Given the description of an element on the screen output the (x, y) to click on. 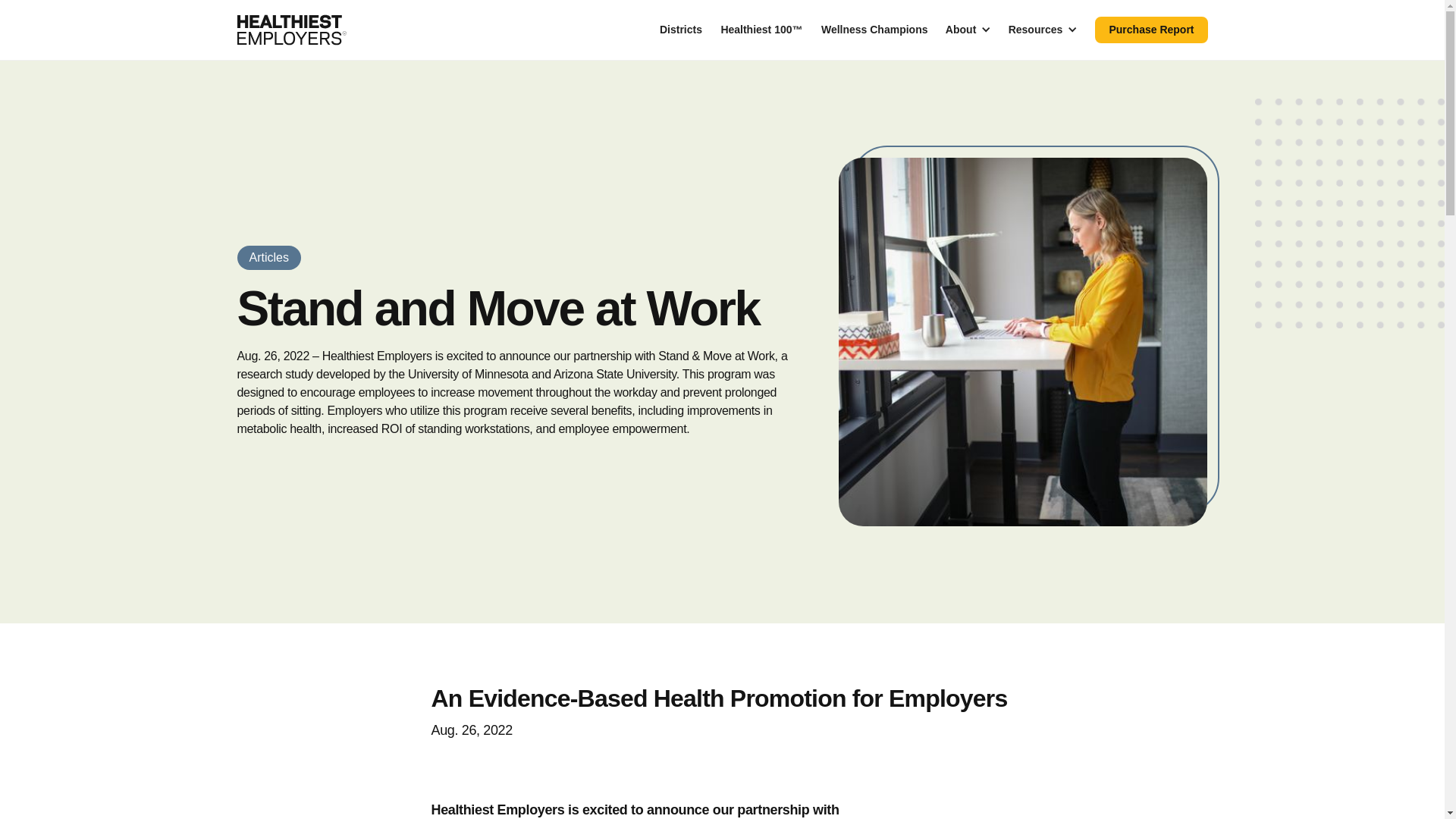
Healthiest Employers (290, 29)
Wellness Champions (874, 29)
Purchase Report (1150, 29)
Districts (680, 29)
